Given the description of an element on the screen output the (x, y) to click on. 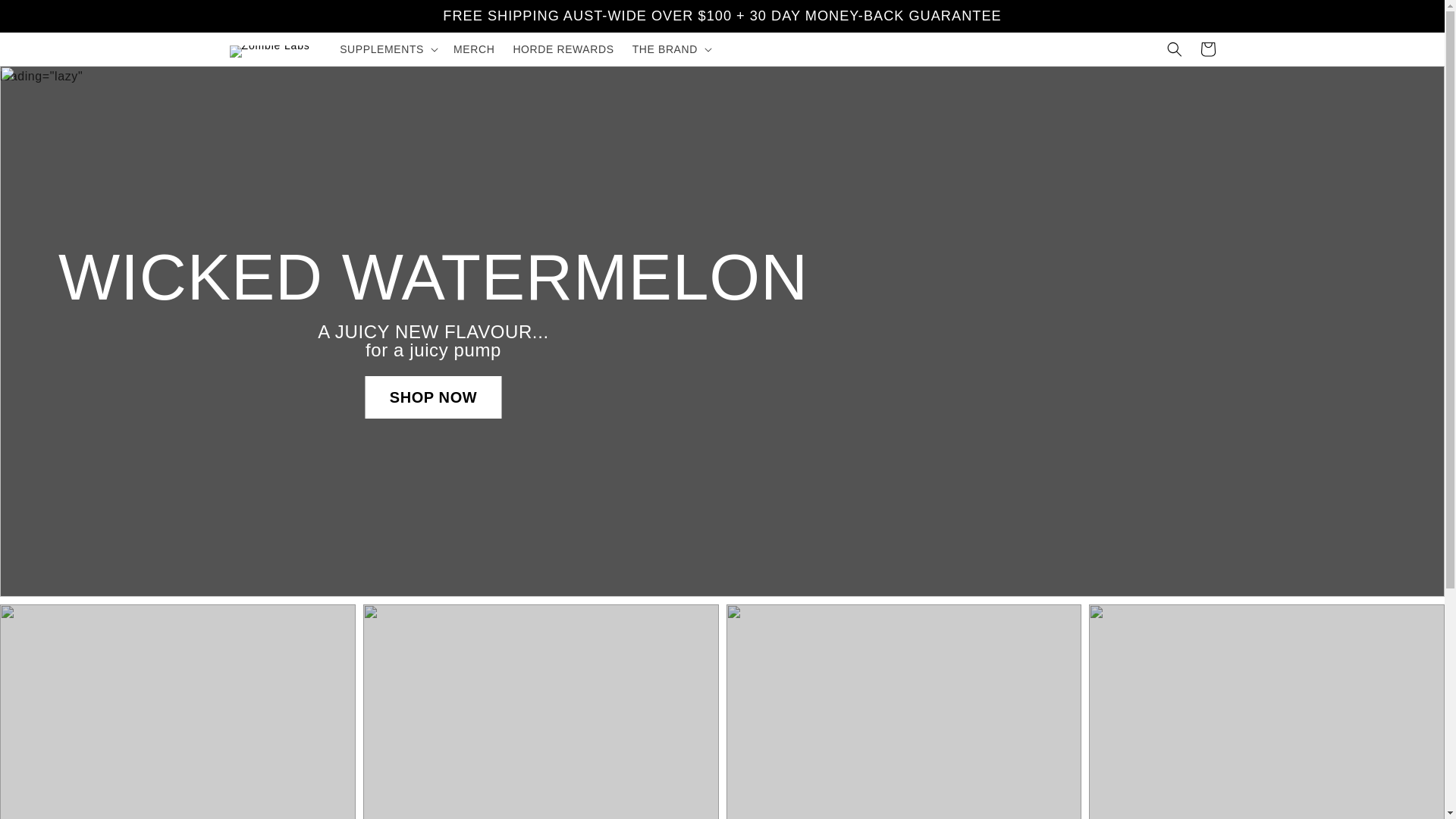
Cart (1207, 49)
Skip to content (45, 16)
HORDE REWARDS (563, 49)
MERCH (473, 49)
SHOP NOW (433, 396)
